Given the description of an element on the screen output the (x, y) to click on. 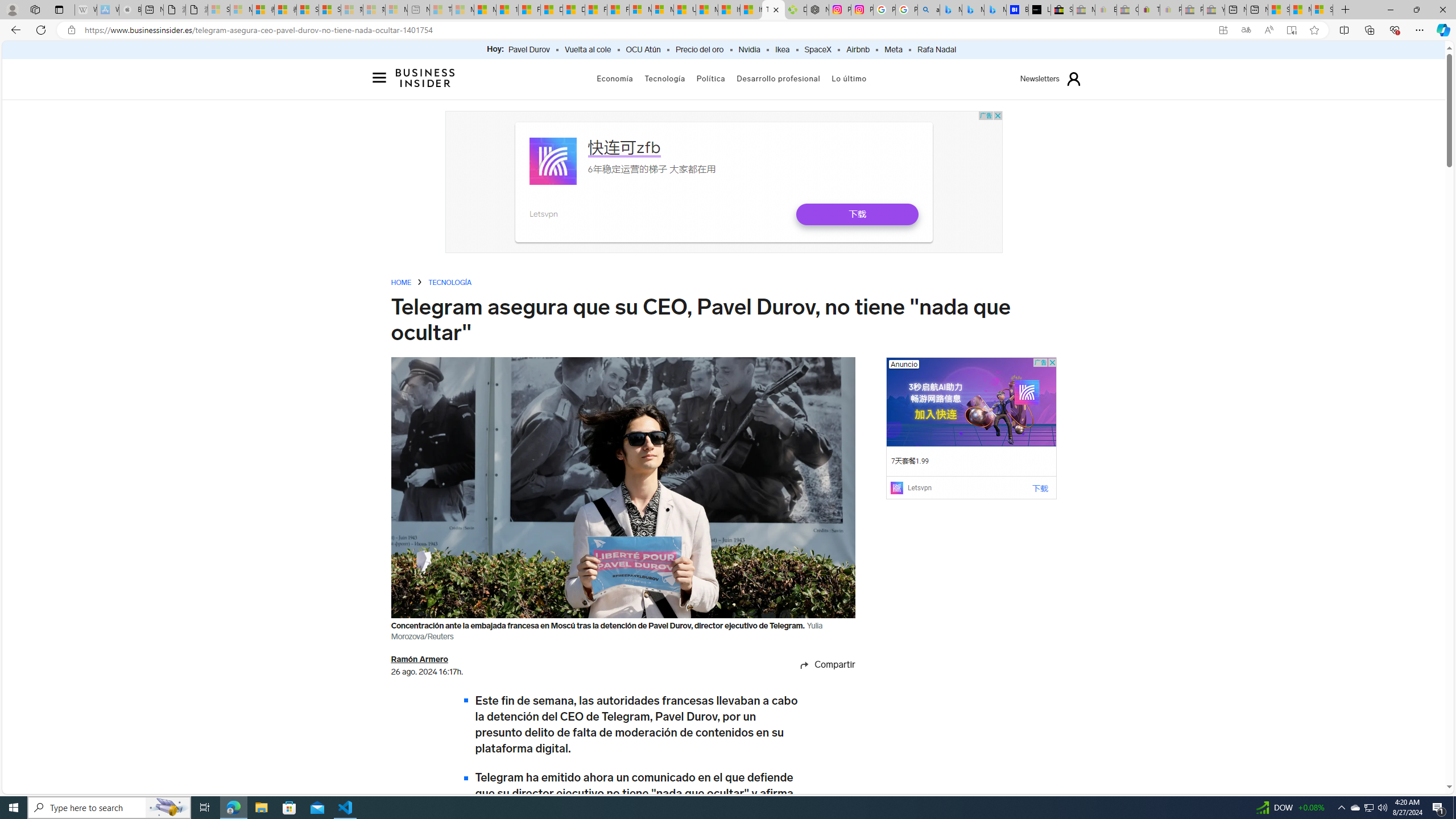
Class: image-link (970, 401)
HOME (401, 282)
Microsoft Bing Travel - Shangri-La Hotel Bangkok (995, 9)
Ikea (782, 49)
Threats and offensive language policy | eBay (1149, 9)
